Given the description of an element on the screen output the (x, y) to click on. 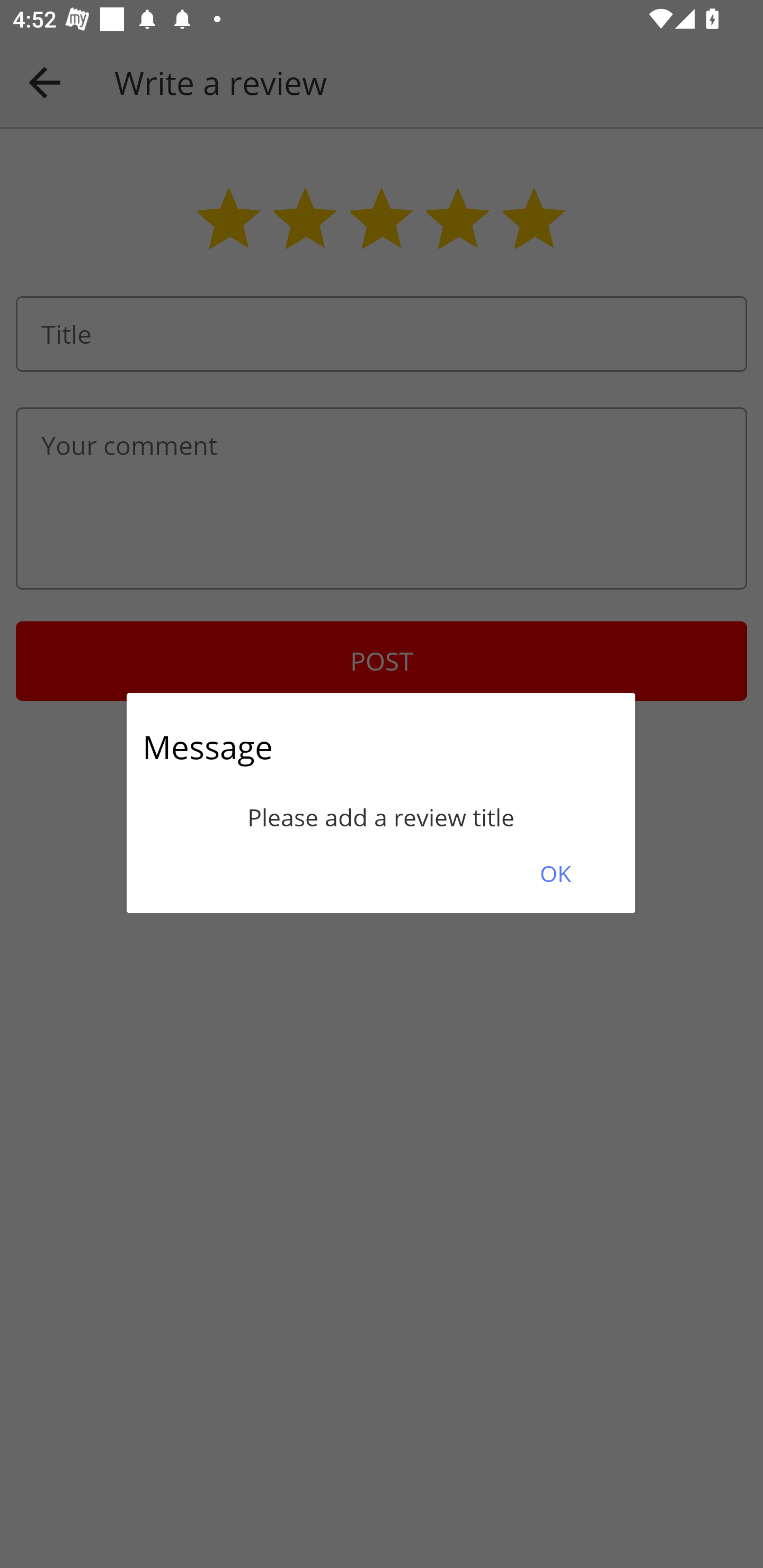
OK (555, 873)
